Given the description of an element on the screen output the (x, y) to click on. 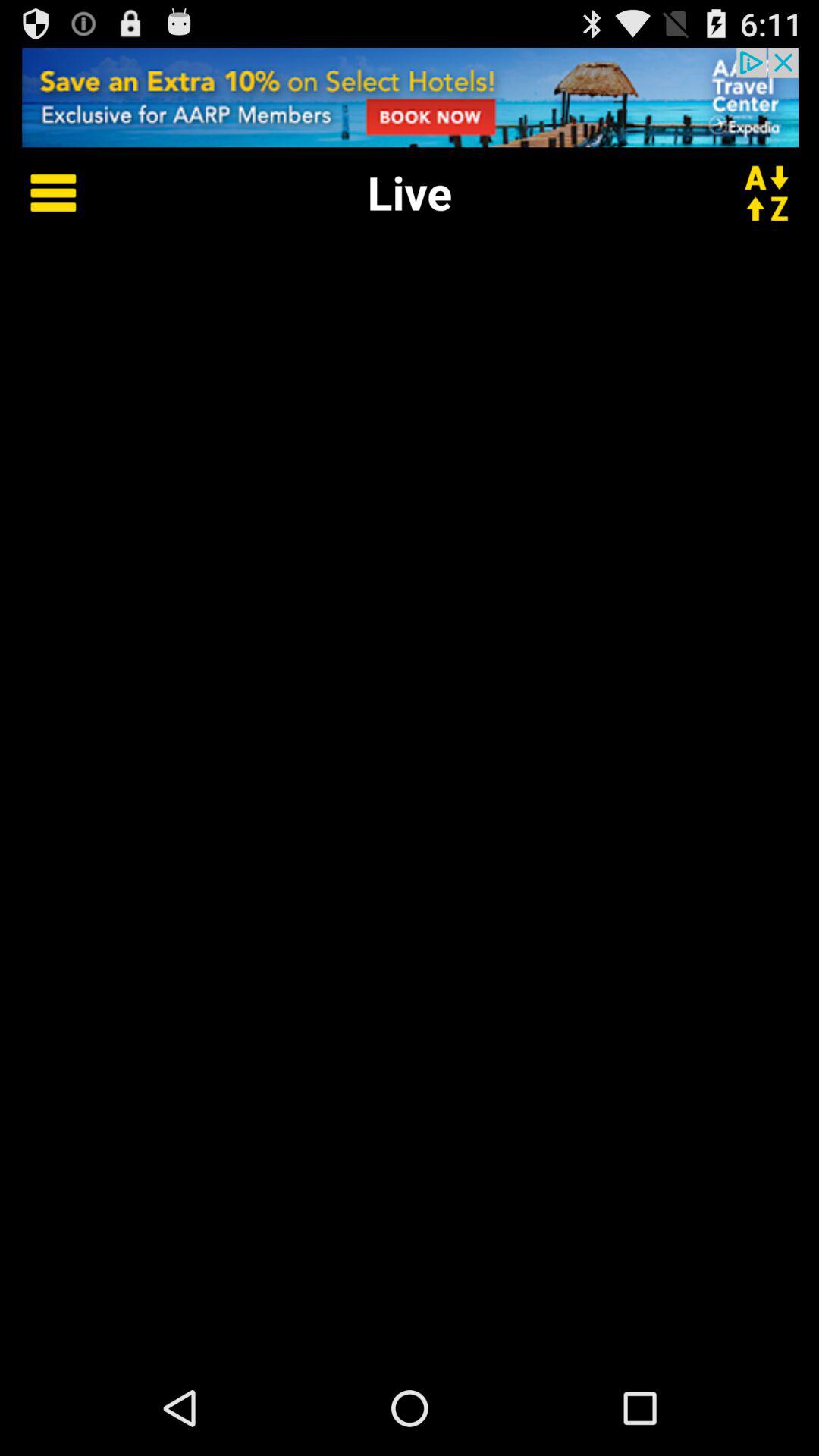
select the add image (409, 97)
